Given the description of an element on the screen output the (x, y) to click on. 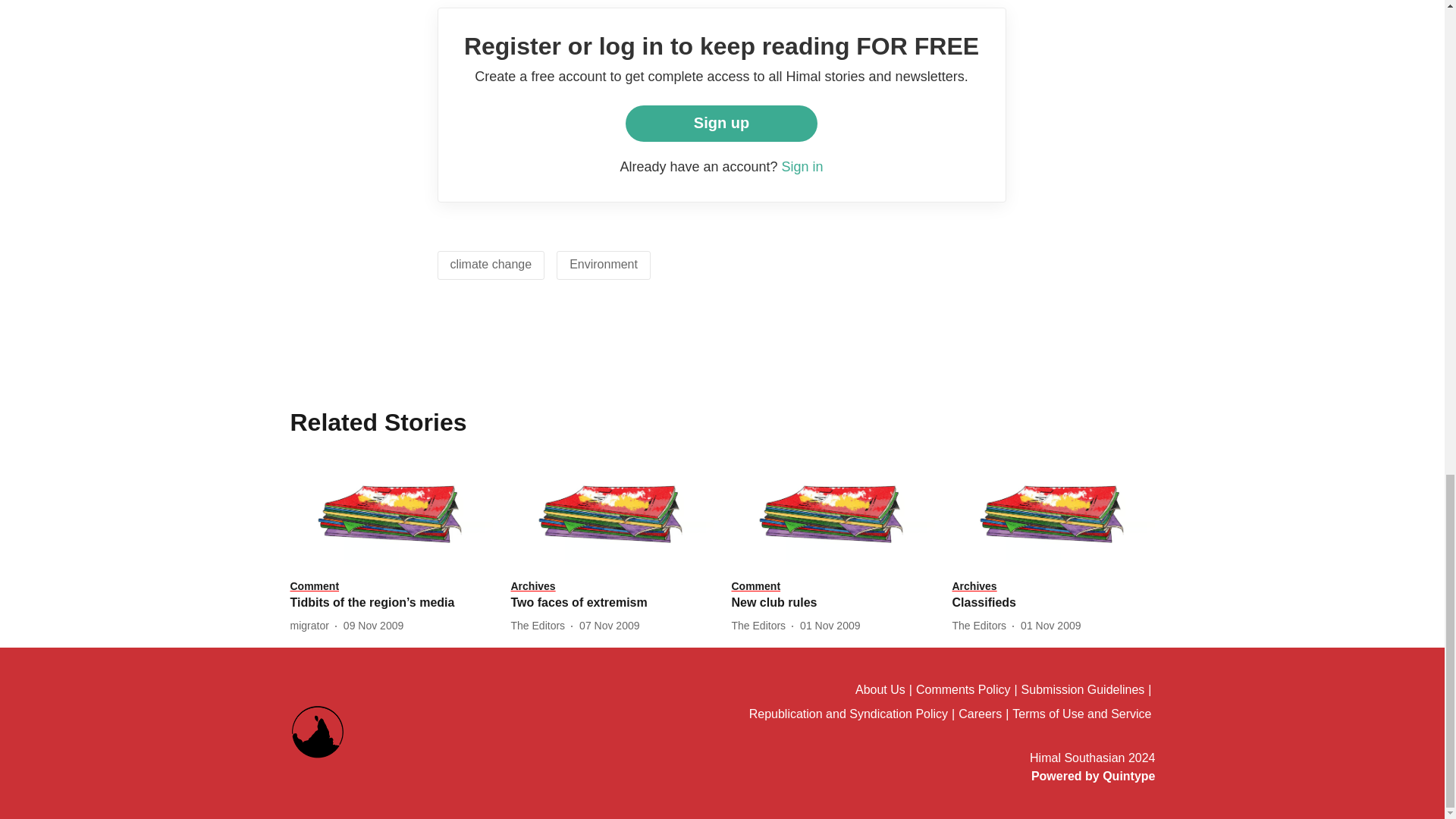
Environment (603, 264)
Comment (390, 587)
2009-11-01 03:51 (829, 625)
2009-11-09 01:43 (373, 625)
Archives (612, 587)
climate change (490, 264)
Comment (831, 587)
2009-10-31 18:30 (1050, 625)
The Editors (541, 625)
2009-11-06 18:30 (609, 625)
